Given the description of an element on the screen output the (x, y) to click on. 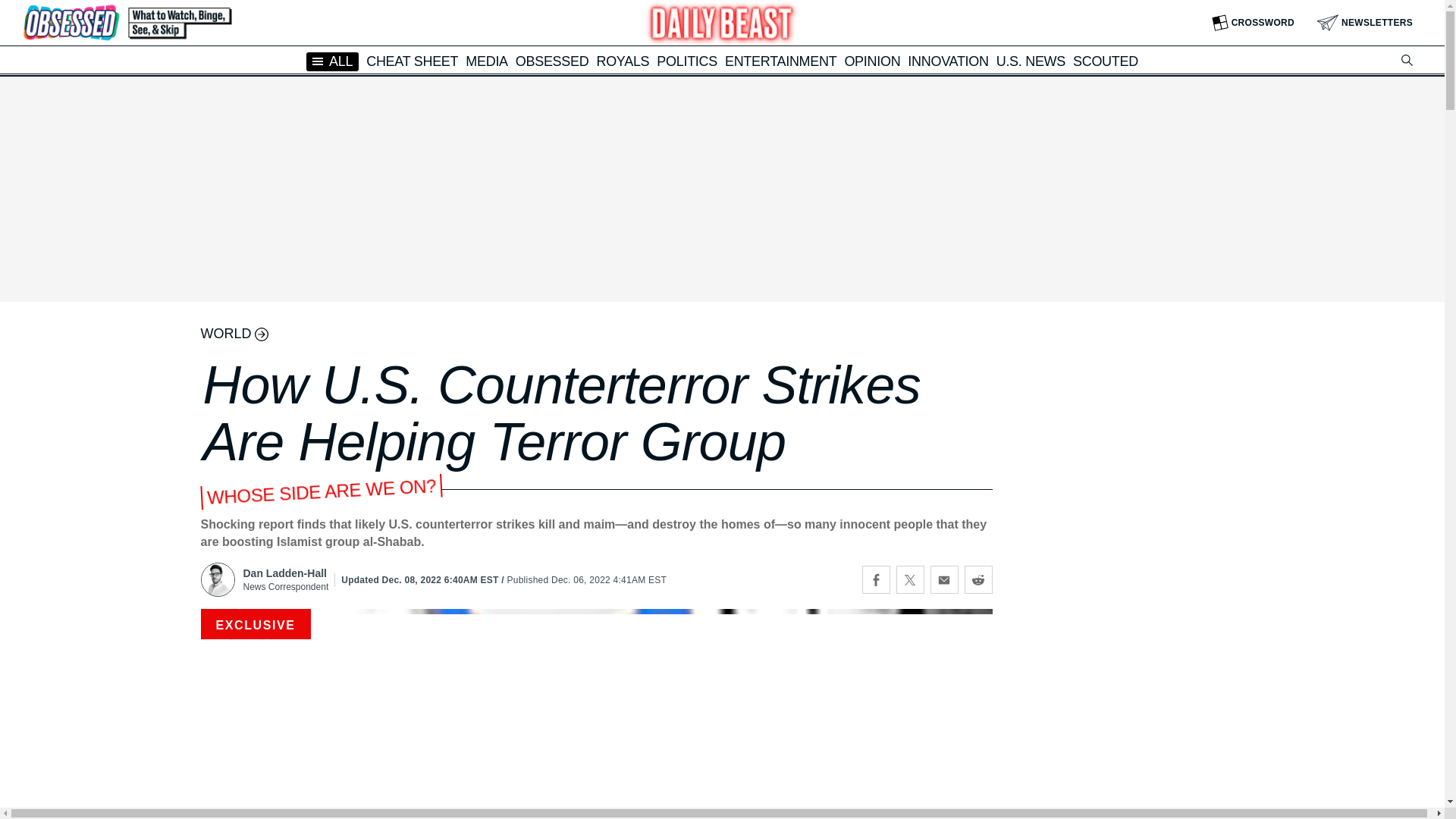
OBSESSED (552, 60)
INNOVATION (947, 60)
ROYALS (622, 60)
CHEAT SHEET (412, 60)
CROSSWORD (1252, 22)
OPINION (871, 60)
POLITICS (686, 60)
ALL (331, 60)
NEWSLETTERS (1364, 22)
ENTERTAINMENT (780, 60)
